Given the description of an element on the screen output the (x, y) to click on. 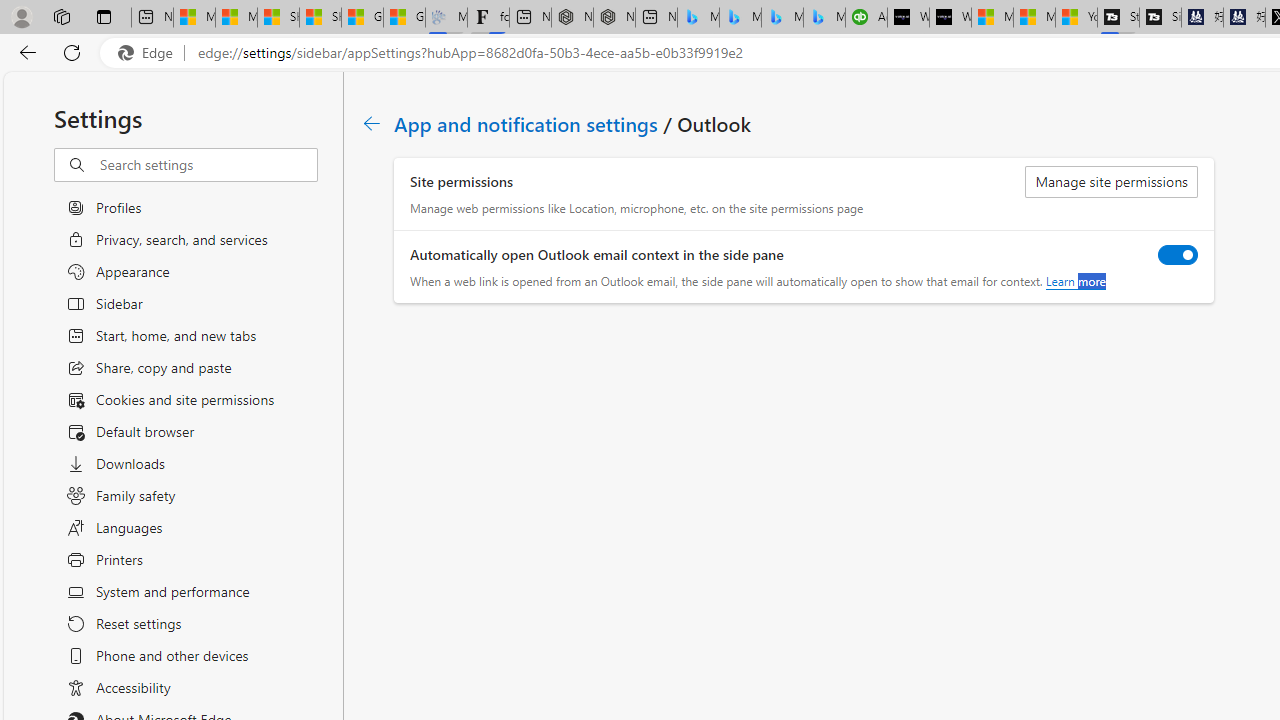
Search settings (207, 165)
Microsoft Bing Travel - Stays in Bangkok, Bangkok, Thailand (740, 17)
Edge (150, 53)
App and notification settings (527, 123)
Automatically open Outlook email context in the side pane (1178, 254)
